Given the description of an element on the screen output the (x, y) to click on. 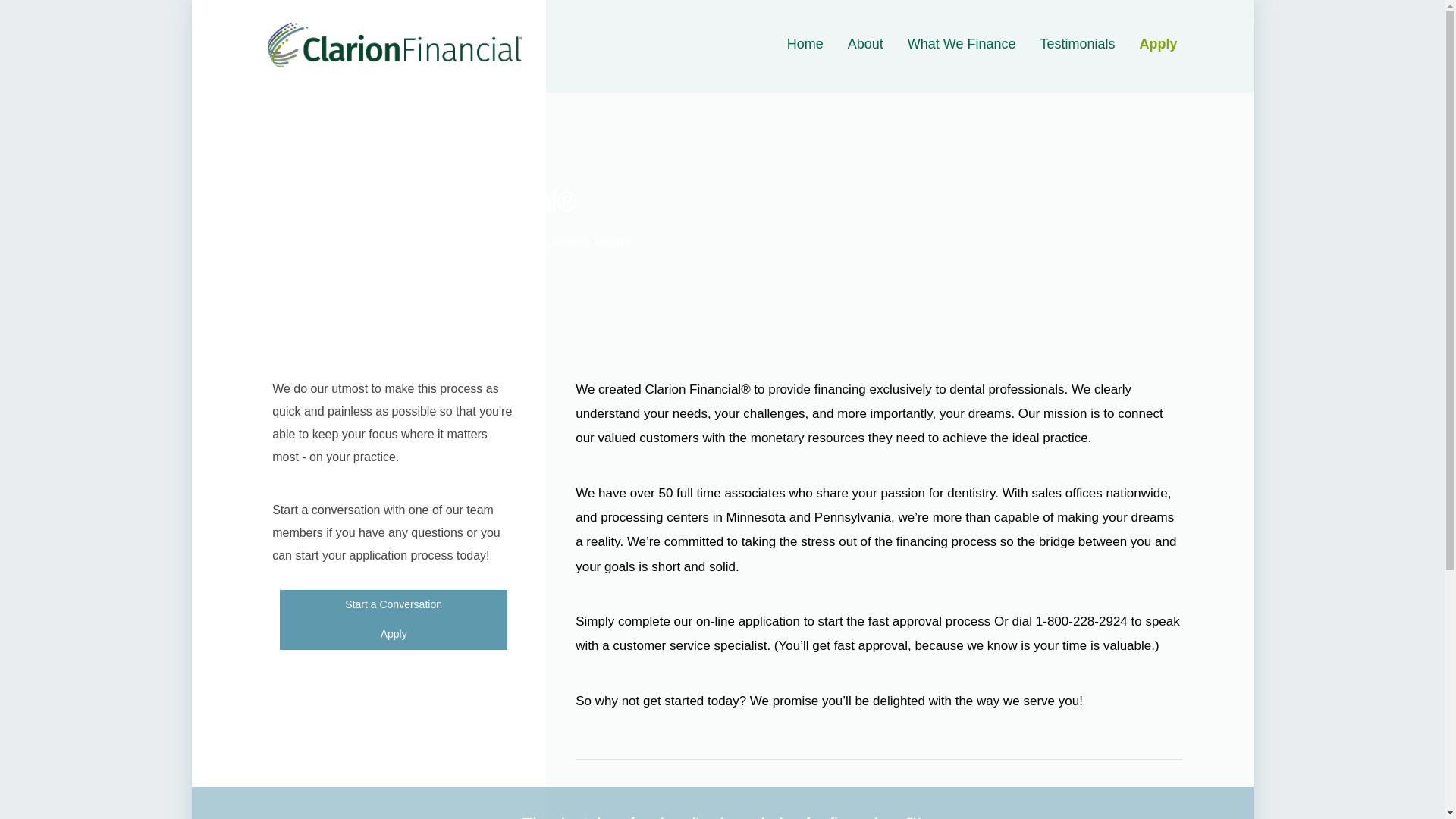
About (865, 44)
Testimonials (1077, 44)
What We Finance (961, 44)
Apply (1157, 44)
Start a Conversation (392, 604)
Apply (392, 634)
Home (805, 44)
